Given the description of an element on the screen output the (x, y) to click on. 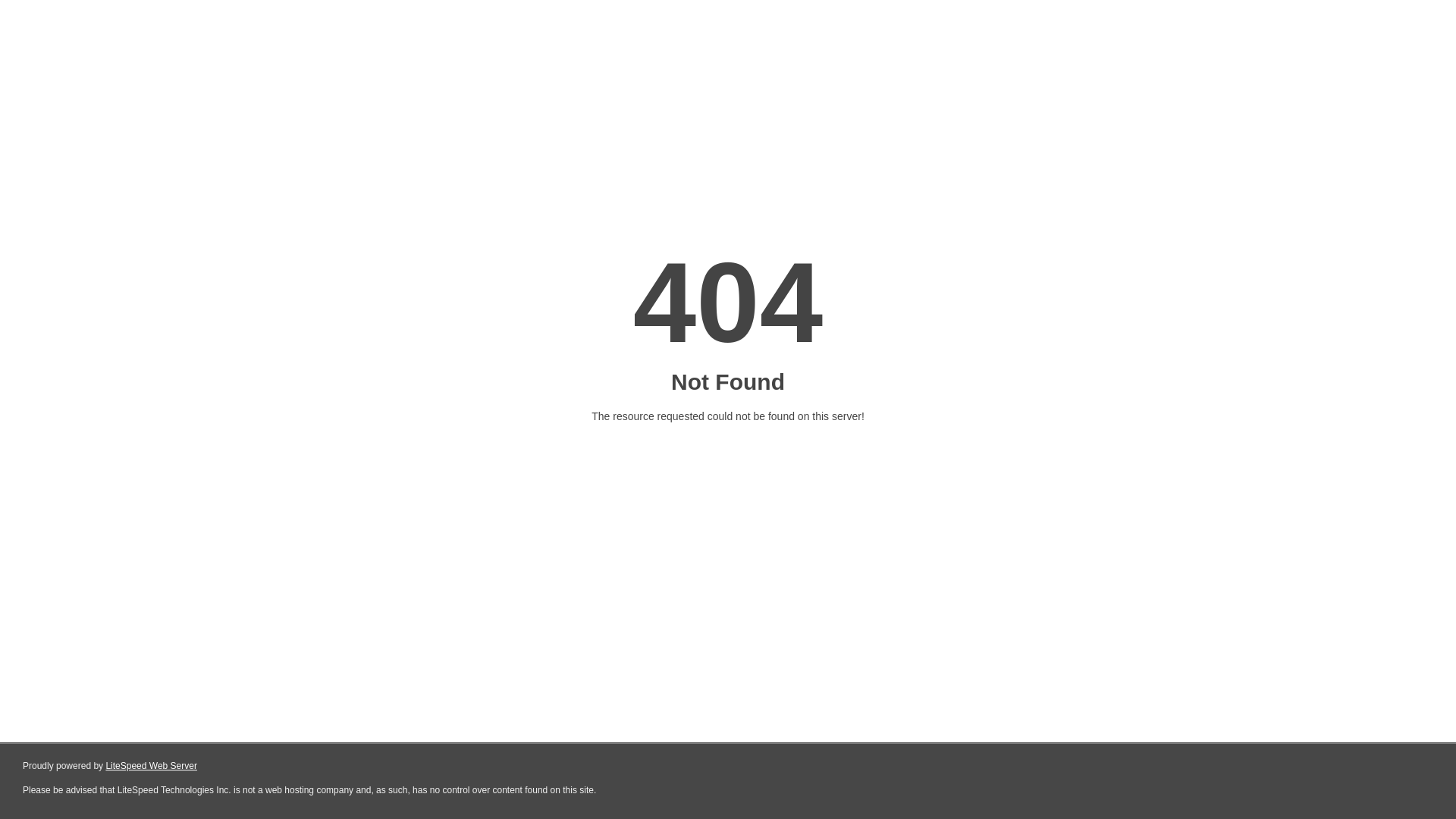
LiteSpeed Web Server Element type: text (151, 765)
